Given the description of an element on the screen output the (x, y) to click on. 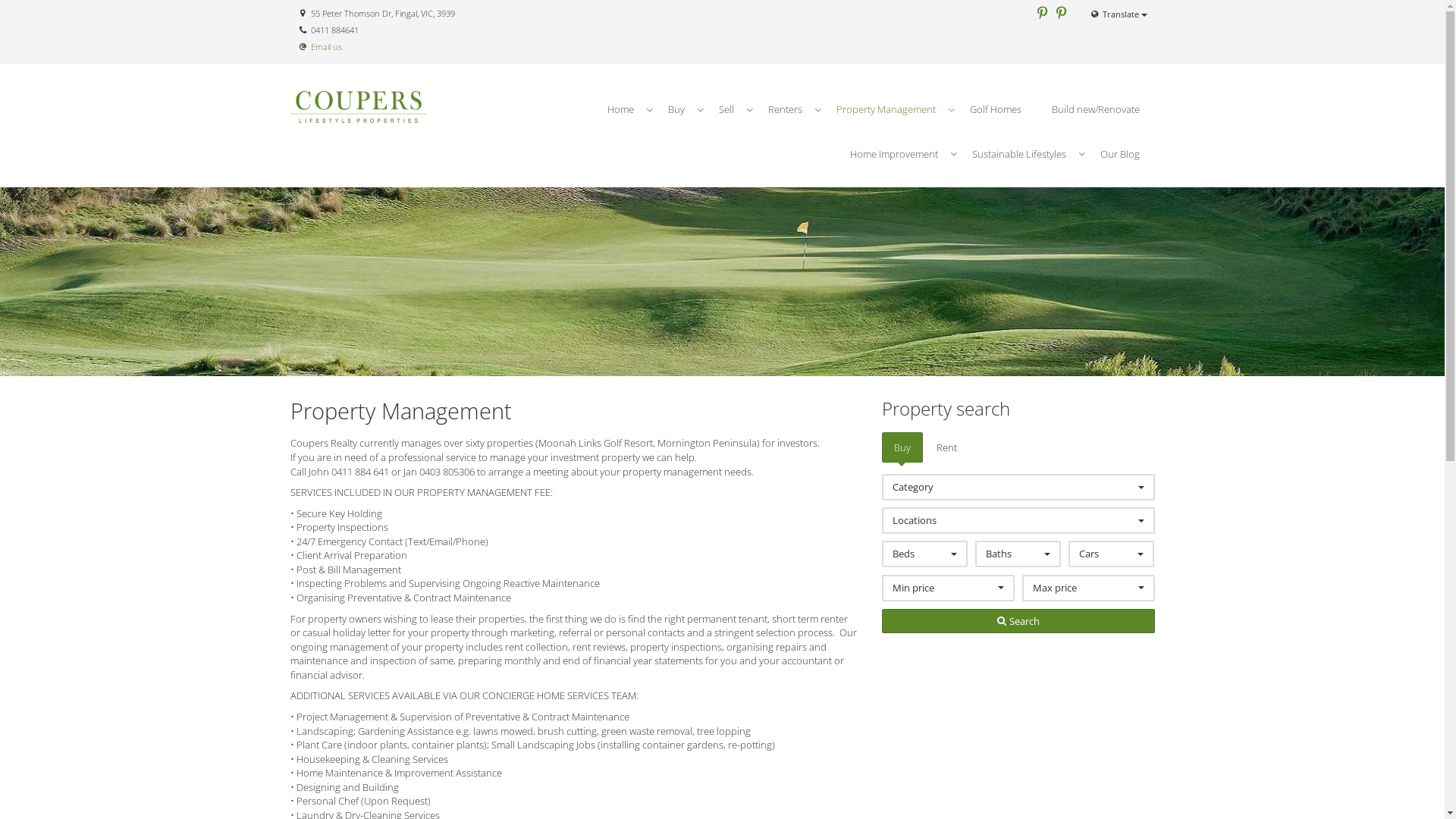
Our Blog Element type: text (1119, 153)
Renters Element type: text (786, 109)
Search Element type: text (1017, 620)
Baths
  Element type: text (1017, 553)
Property Management Element type: text (886, 109)
Coupers Realty Element type: hover (357, 103)
Min price
  Element type: text (947, 587)
Locations
  Element type: text (1017, 520)
Email us Element type: text (326, 46)
Home Element type: text (621, 109)
Cars
  Element type: text (1111, 553)
Beds
  Element type: text (923, 553)
Category
  Element type: text (1017, 486)
Home Improvement Element type: text (895, 153)
Buy Element type: text (901, 447)
Buy Element type: text (677, 109)
Sell Element type: text (728, 109)
Golf Homes Element type: text (994, 109)
Build new/Renovate Element type: text (1094, 109)
Max price
  Element type: text (1088, 587)
Translate Element type: text (1117, 14)
Rent Element type: text (945, 447)
Sustainable Lifestyles Element type: text (1021, 153)
